Given the description of an element on the screen output the (x, y) to click on. 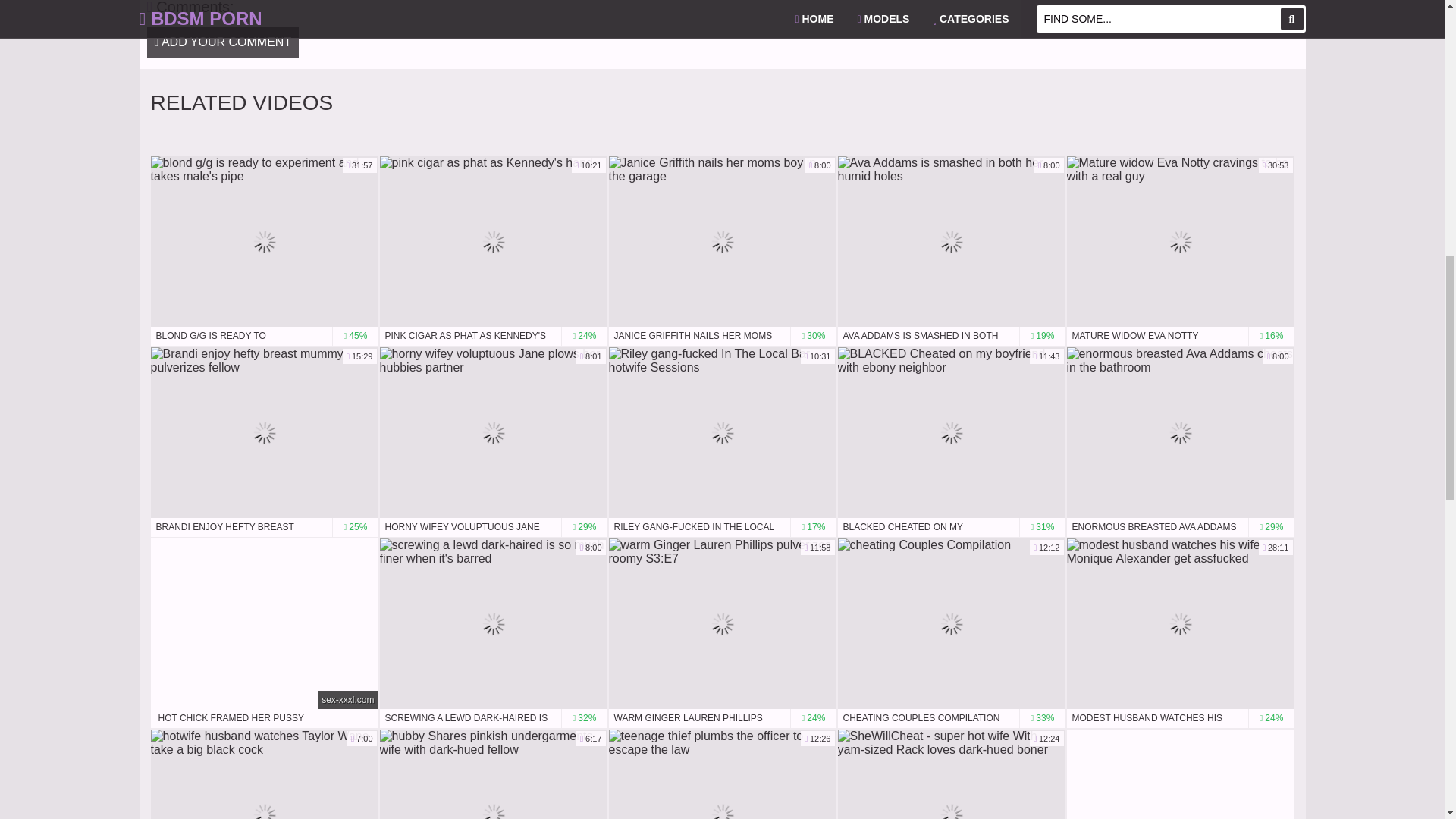
HORNY WIFEY VOLUPTUOUS JANE PLOWS HER HUBBIES PARTNER (492, 527)
30:53 (1179, 241)
28:11 (1179, 623)
CHEATING COUPLES COMPILATION (950, 718)
BLACKED CHEATED ON MY BOYFRIEND WITH EBONY NEIGHBOR (950, 527)
JANICE GRIFFITH NAILS HER MOMS BOY IN THE GARAGE (721, 335)
BRANDI ENJOY HEFTY BREAST MUMMY PULVERIZES FELLOW (263, 527)
11:43 (950, 432)
PINK CIGAR AS PHAT AS KENNEDY'S HAND (492, 335)
10:21 (492, 241)
11:58 (721, 623)
15:29 (263, 432)
MATURE WIDOW EVA NOTTY CRAVINGS TO BE WITH A REAL GUY (1179, 335)
8:00 (1179, 432)
